Given the description of an element on the screen output the (x, y) to click on. 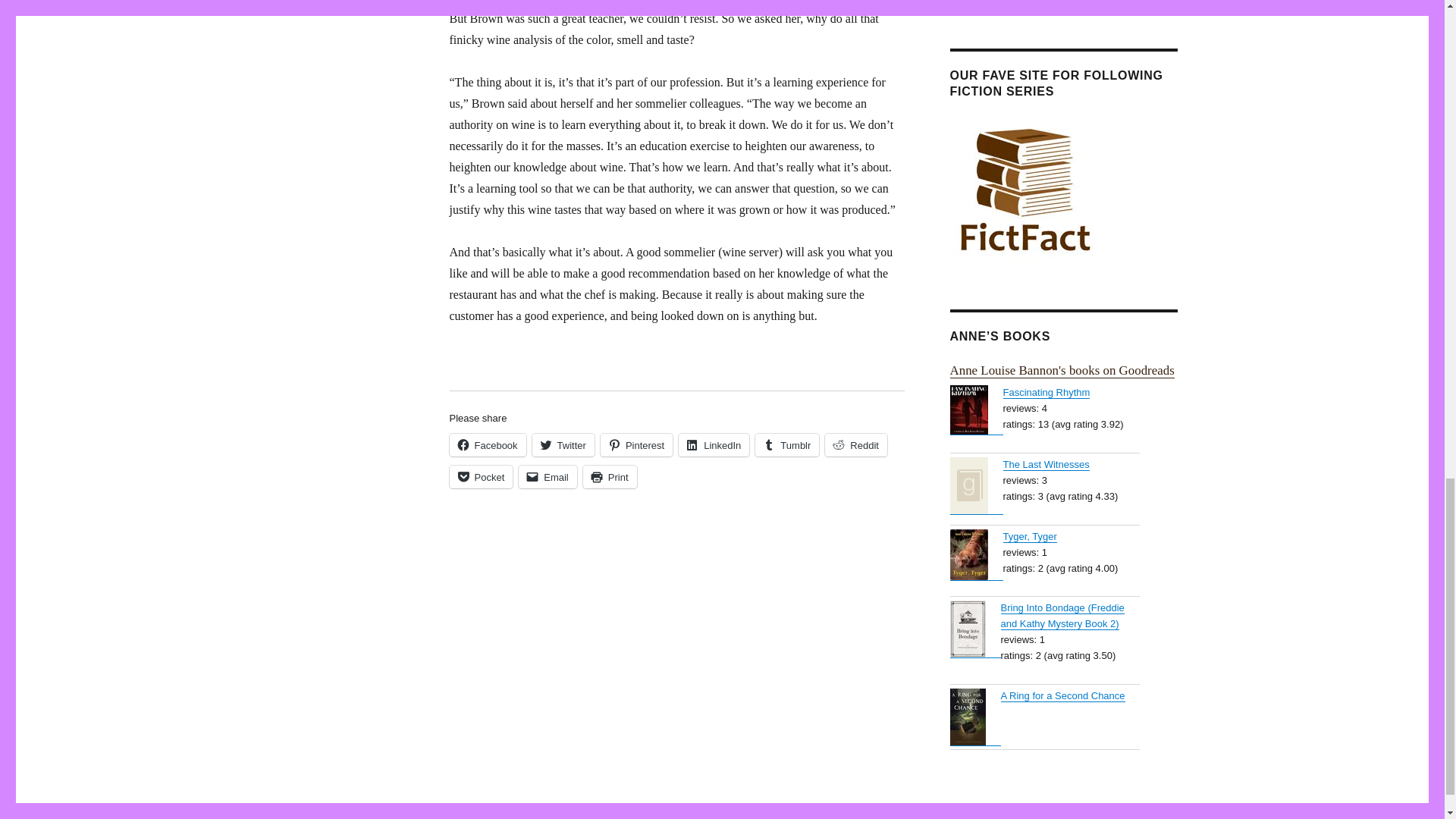
Facebook (486, 445)
Print (610, 477)
Click to share on Pocket (480, 477)
Click to share on Facebook (486, 445)
Click to share on Pinterest (635, 445)
LinkedIn (713, 445)
Click to share on LinkedIn (713, 445)
Twitter (563, 445)
Tyger, Tyger (976, 554)
Fascinating Rhythm (976, 409)
